Given the description of an element on the screen output the (x, y) to click on. 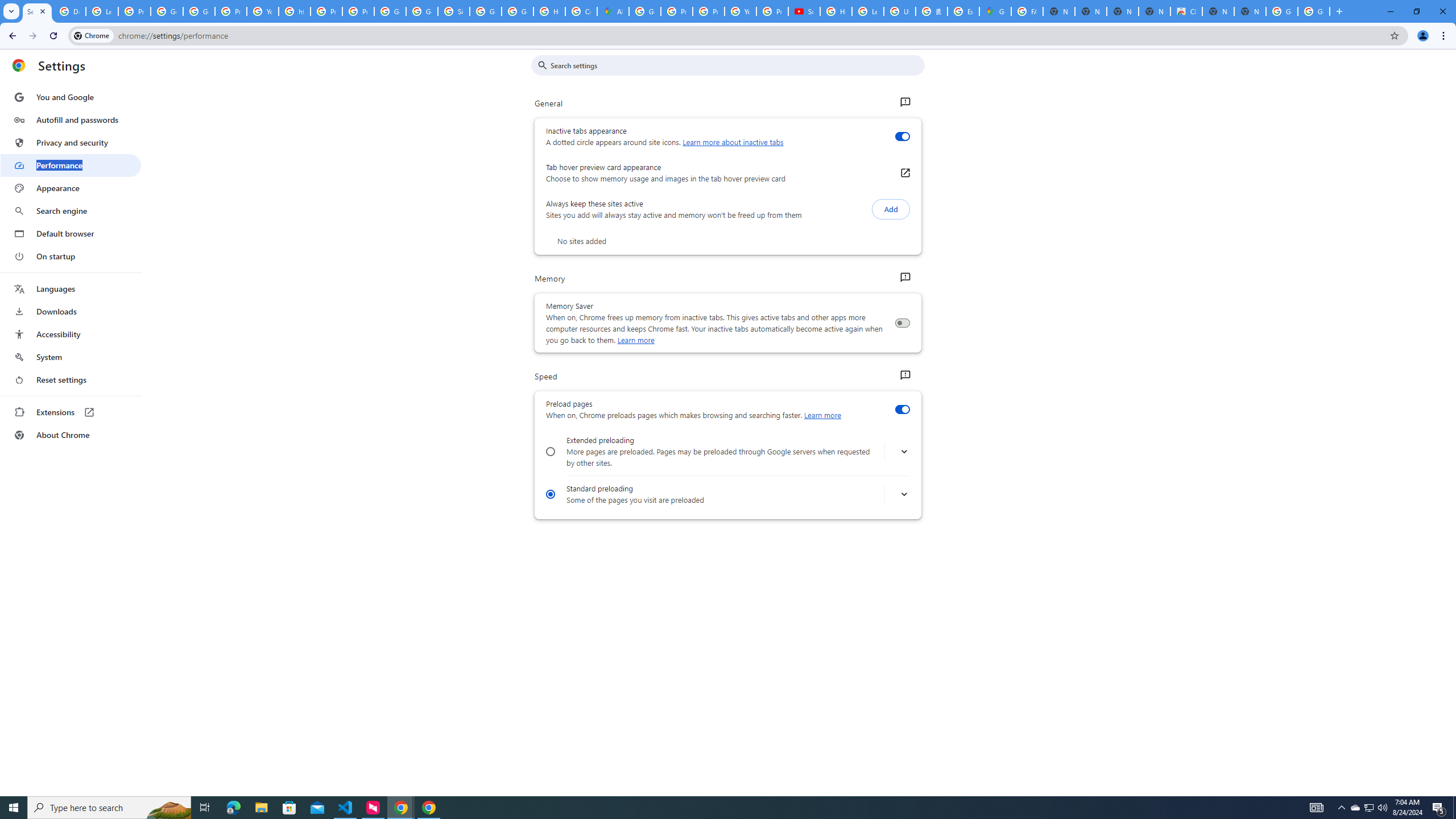
Sign in - Google Accounts (453, 11)
YouTube (740, 11)
Google Maps (995, 11)
